Given the description of an element on the screen output the (x, y) to click on. 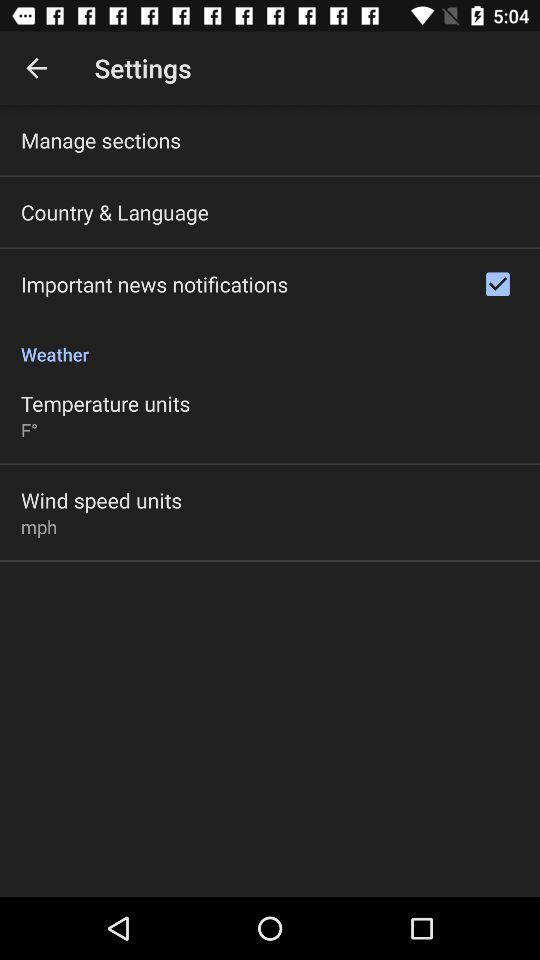
press icon above country & language icon (101, 139)
